Given the description of an element on the screen output the (x, y) to click on. 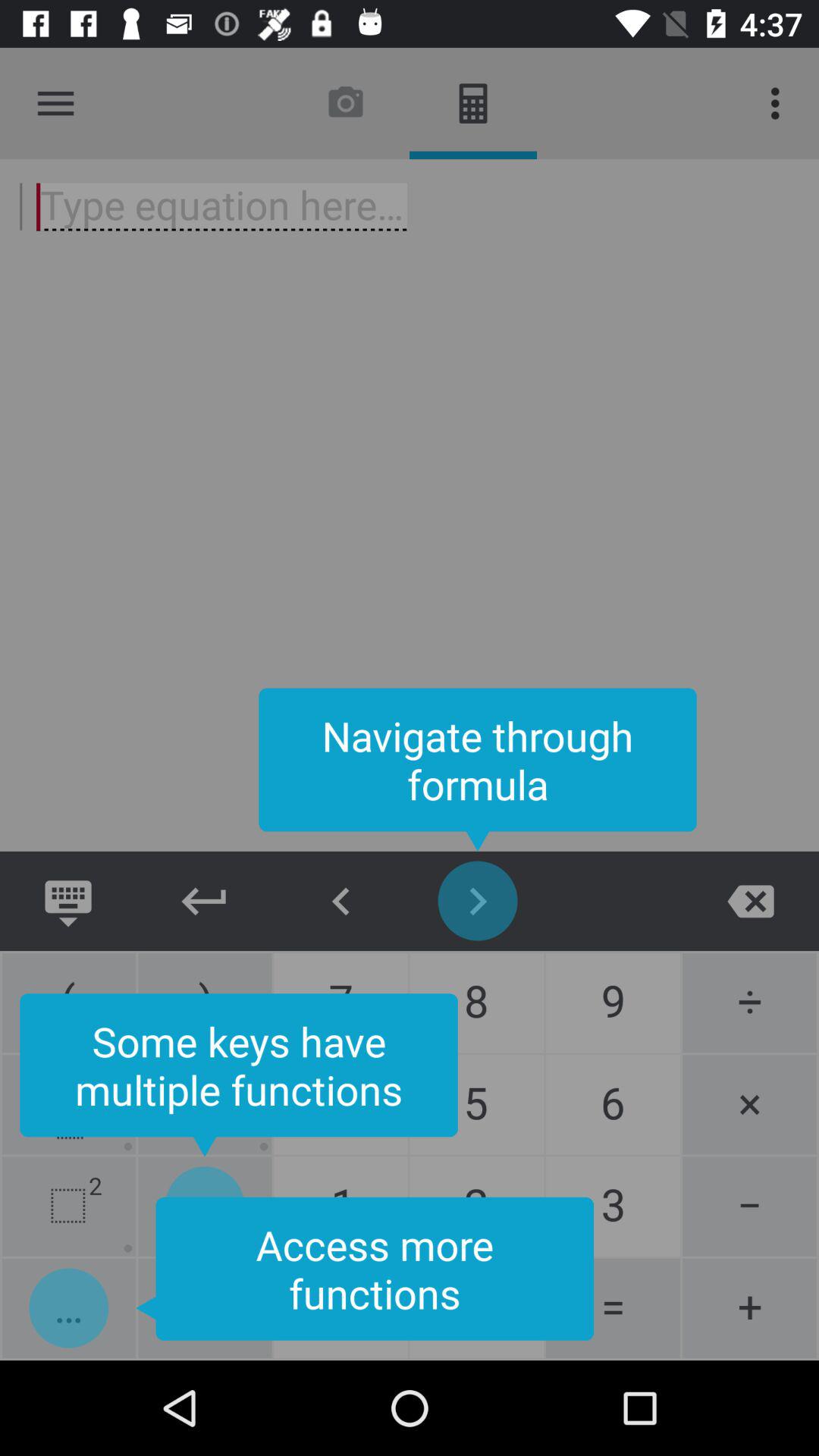
exit page (750, 900)
